Given the description of an element on the screen output the (x, y) to click on. 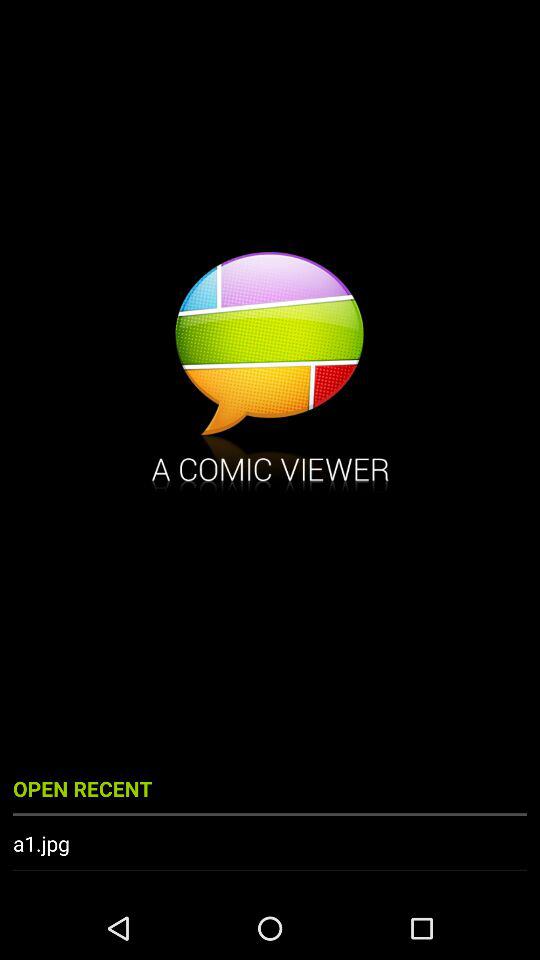
open icon at the center (269, 373)
